Given the description of an element on the screen output the (x, y) to click on. 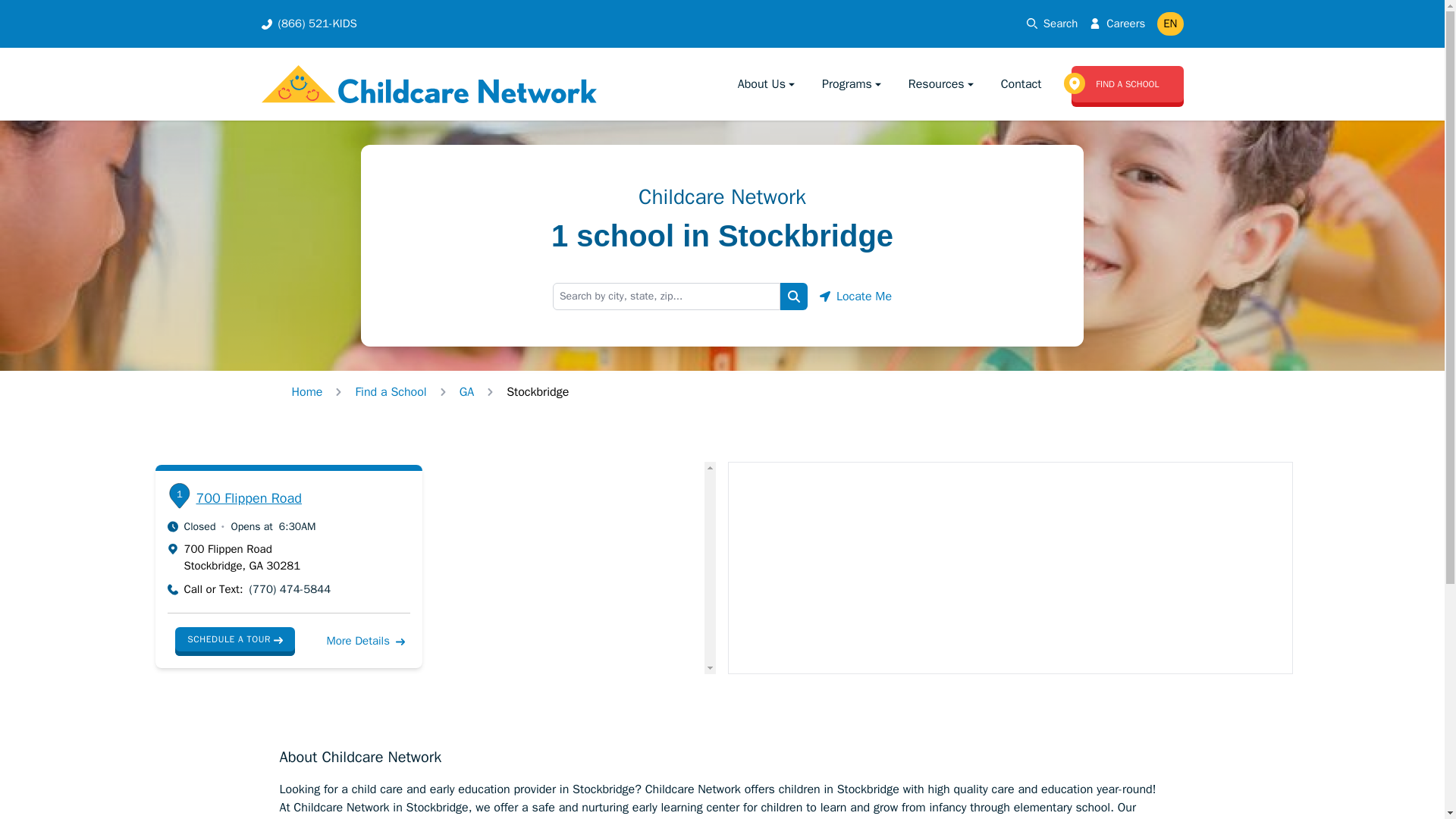
About Us (767, 83)
Home (306, 391)
Careers (1125, 23)
Contact (1021, 83)
Locate Me (855, 295)
EN (1169, 23)
FIND A SCHOOL (1126, 82)
Programs (852, 83)
Search (1052, 23)
Find a School (390, 391)
Geolocate button (855, 295)
Search (794, 295)
Search button (794, 295)
Resources (942, 83)
